Given the description of an element on the screen output the (x, y) to click on. 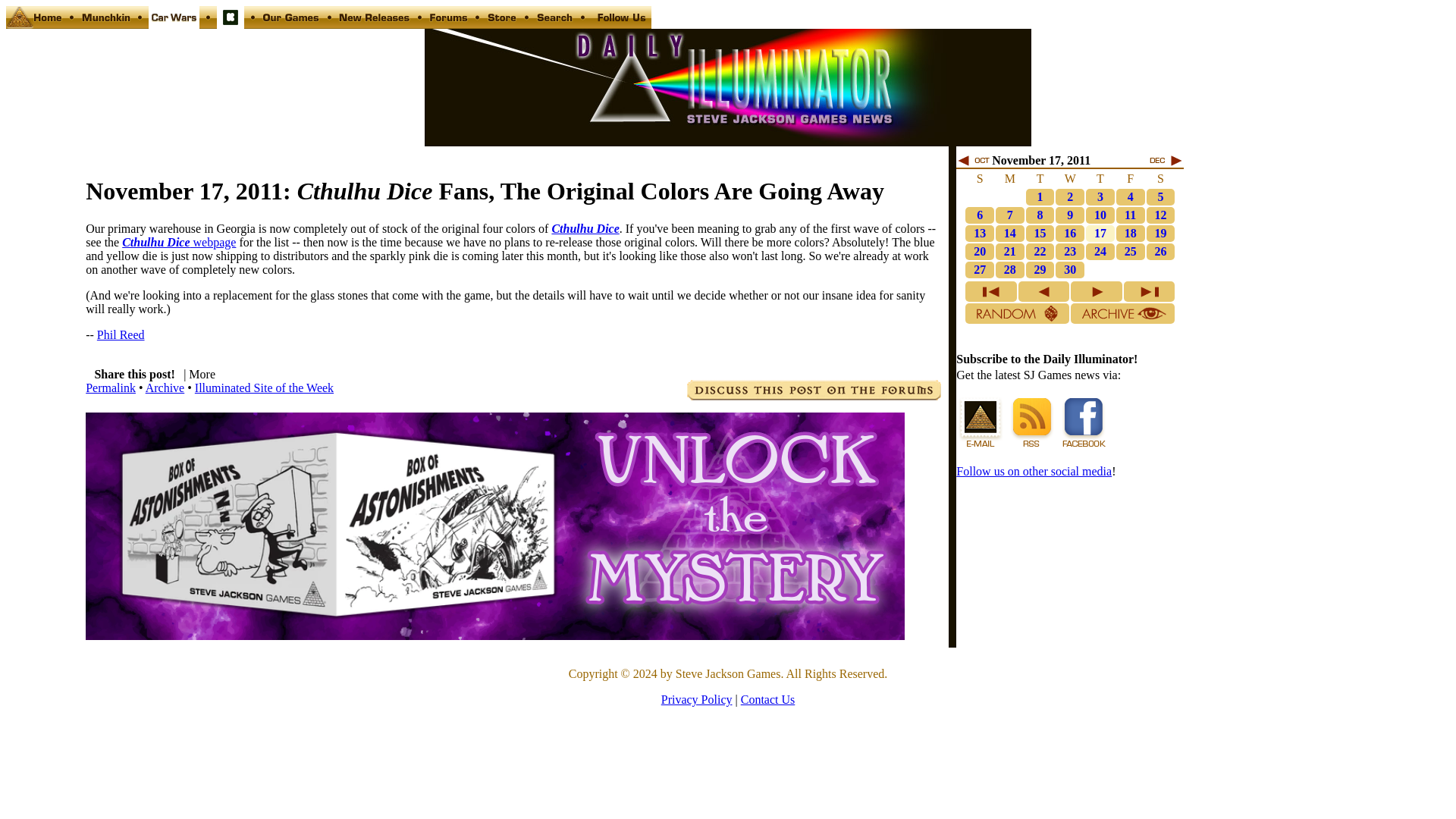
3 (1100, 196)
4 (1130, 196)
Archive (164, 387)
Score One For Honest Government (1040, 196)
Contact Us (620, 24)
12 (1160, 214)
Illuminated Site of the Week (264, 387)
8 (1040, 214)
Munchkin (105, 24)
Our Games (291, 24)
Cthulhu Dice webpage (178, 241)
New Releases (373, 24)
Gaming In New York City on November 10 (1130, 196)
7 (1010, 214)
Axe. Cop. In Munchkin. (1100, 196)
